Given the description of an element on the screen output the (x, y) to click on. 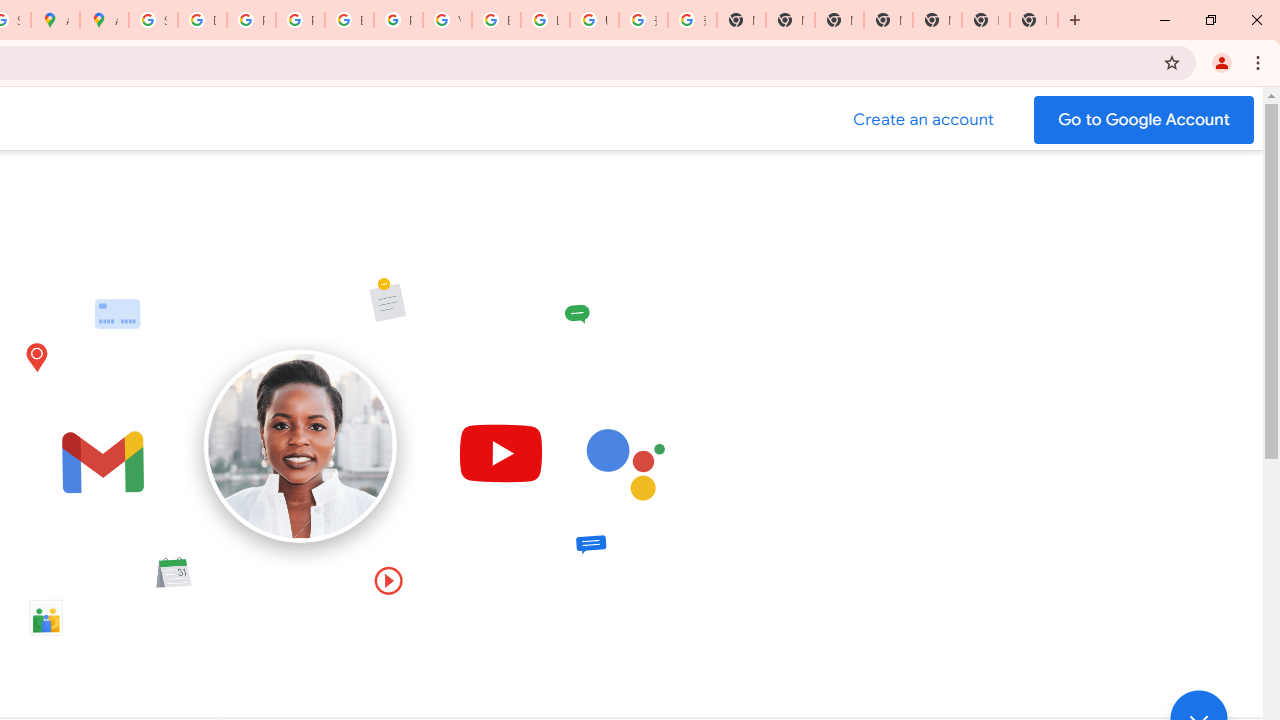
Privacy Help Center - Policies Help (300, 20)
New Tab (1033, 20)
Privacy Help Center - Policies Help (251, 20)
New Tab (888, 20)
Go to your Google Account (1144, 119)
